Given the description of an element on the screen output the (x, y) to click on. 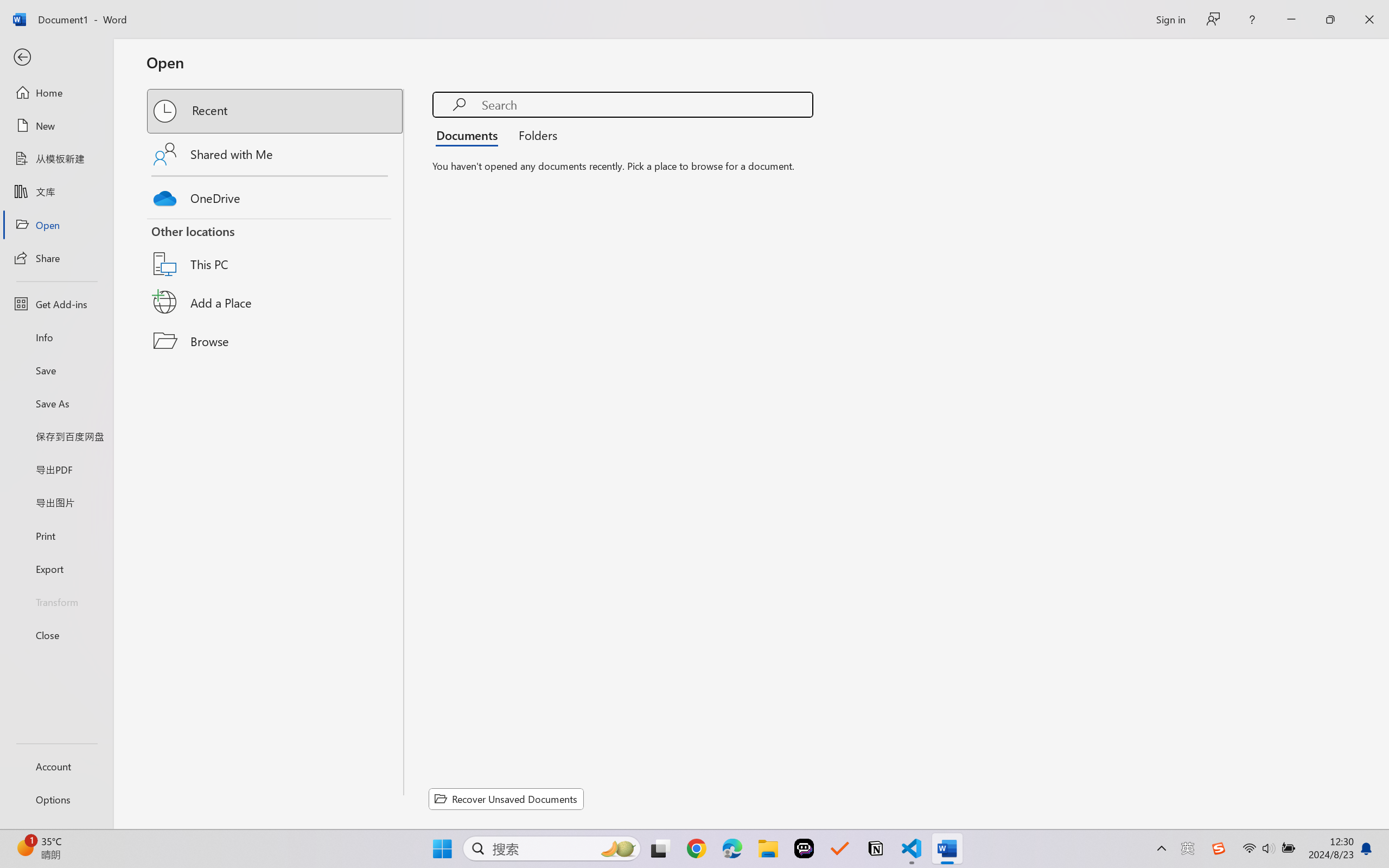
Options (56, 798)
Shared with Me (275, 153)
New (56, 125)
Info (56, 337)
Recover Unsaved Documents (506, 798)
Folders (534, 134)
OneDrive (275, 195)
This PC (275, 249)
Recent (275, 110)
